Given the description of an element on the screen output the (x, y) to click on. 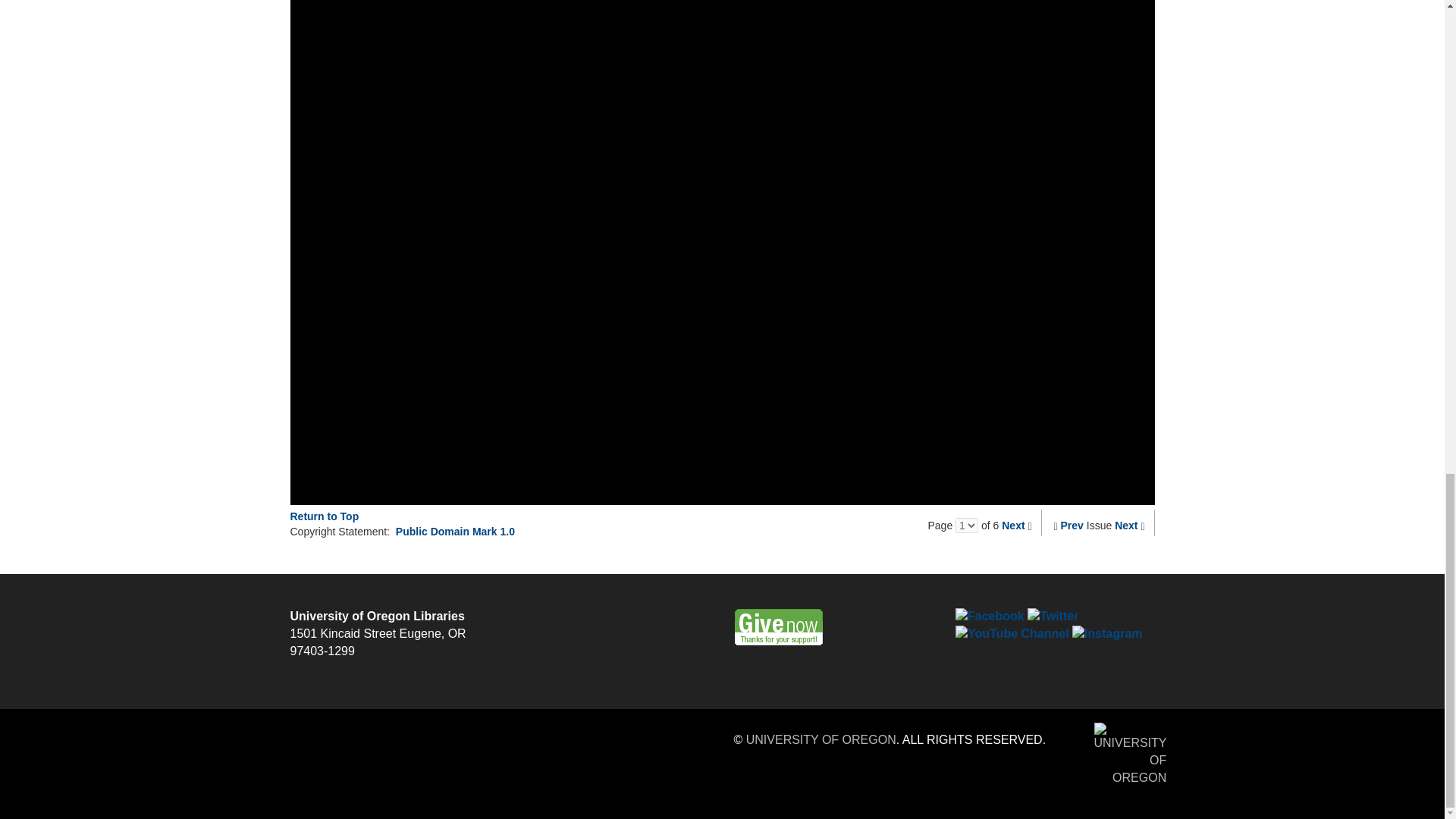
Public Domain Mark 1.0 (455, 531)
Return to Top (323, 516)
Next (1126, 525)
Prev (1072, 525)
Next (1013, 525)
